Given the description of an element on the screen output the (x, y) to click on. 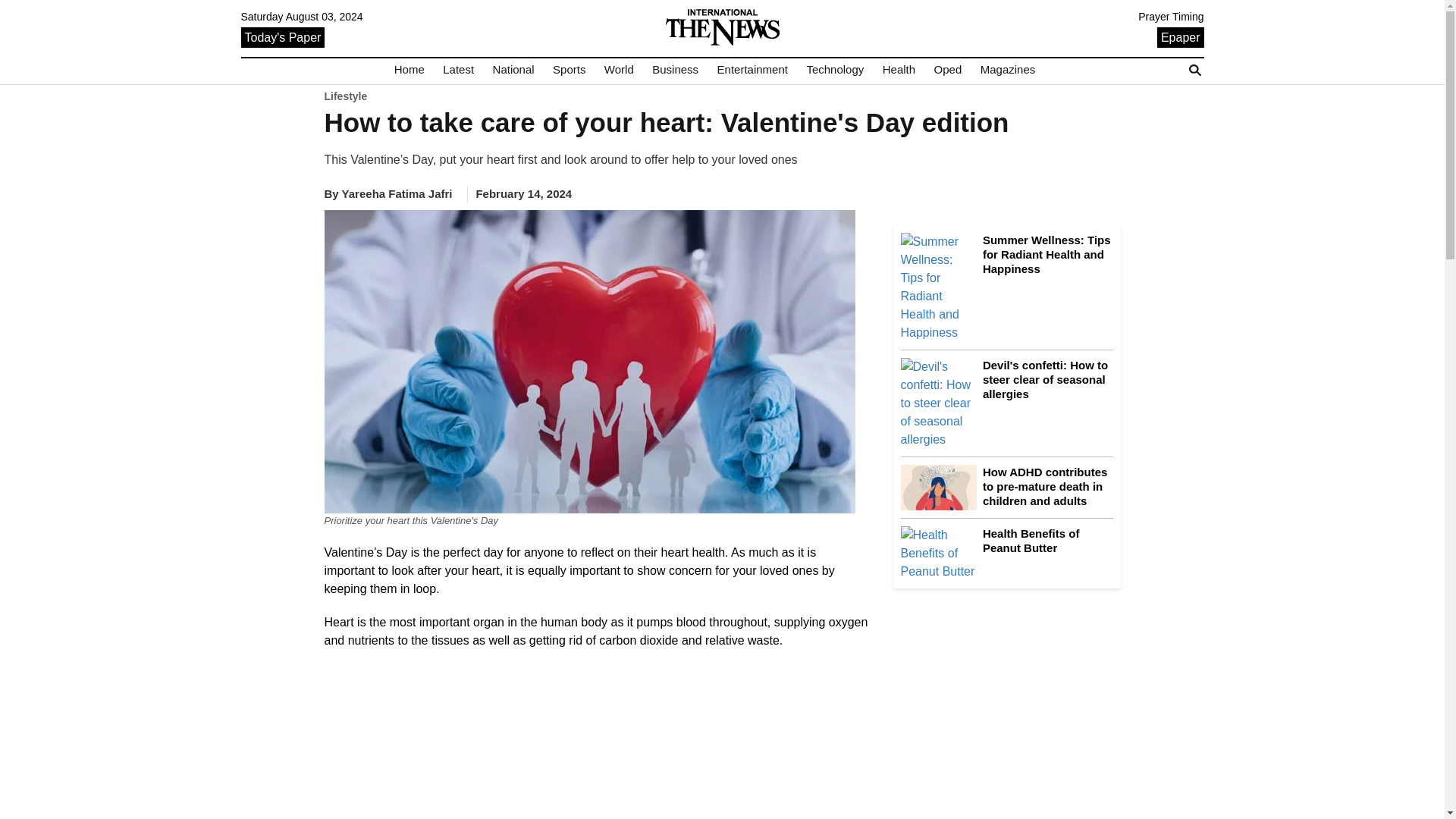
Technology (833, 69)
World (619, 69)
Epaper (1180, 37)
Prayer Timing (1171, 16)
Entertainment (752, 69)
National (512, 69)
Home (409, 69)
Sports (568, 69)
Business (675, 69)
Latest (458, 69)
Health (899, 69)
Today's Paper (282, 37)
